Given the description of an element on the screen output the (x, y) to click on. 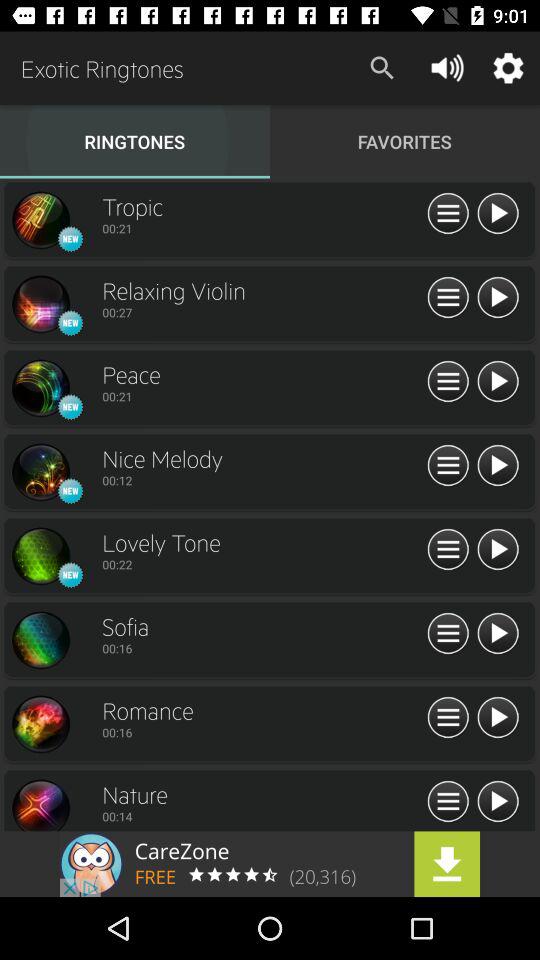
more option (447, 297)
